Given the description of an element on the screen output the (x, y) to click on. 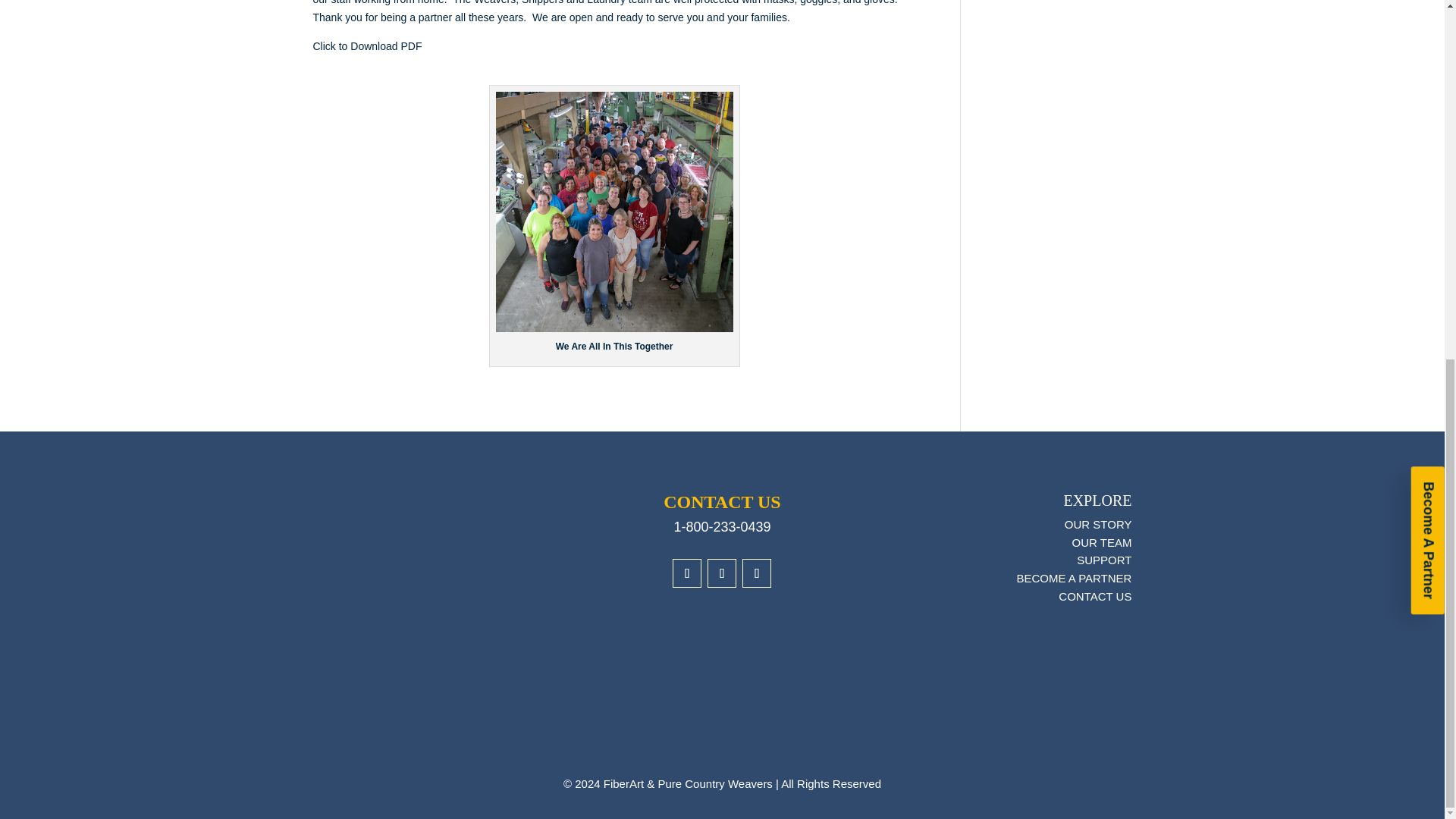
nfda-logo-1024x720 (398, 697)
FHG-logo-2c-w (434, 518)
Follow on Facebook (686, 573)
Follow on Youtube (756, 573)
Follow on Instagram (721, 573)
